Given the description of an element on the screen output the (x, y) to click on. 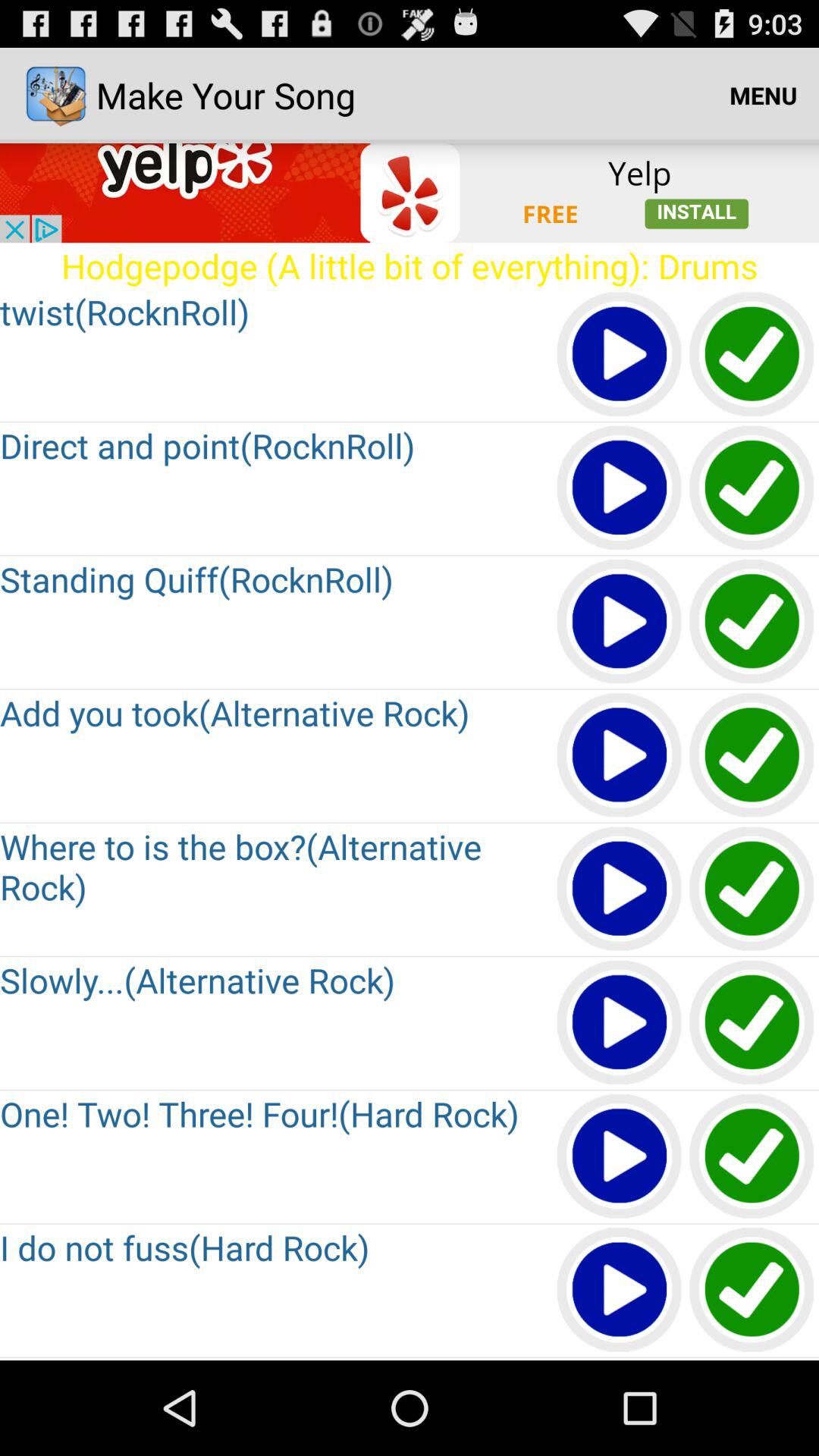
audio play (619, 1156)
